Given the description of an element on the screen output the (x, y) to click on. 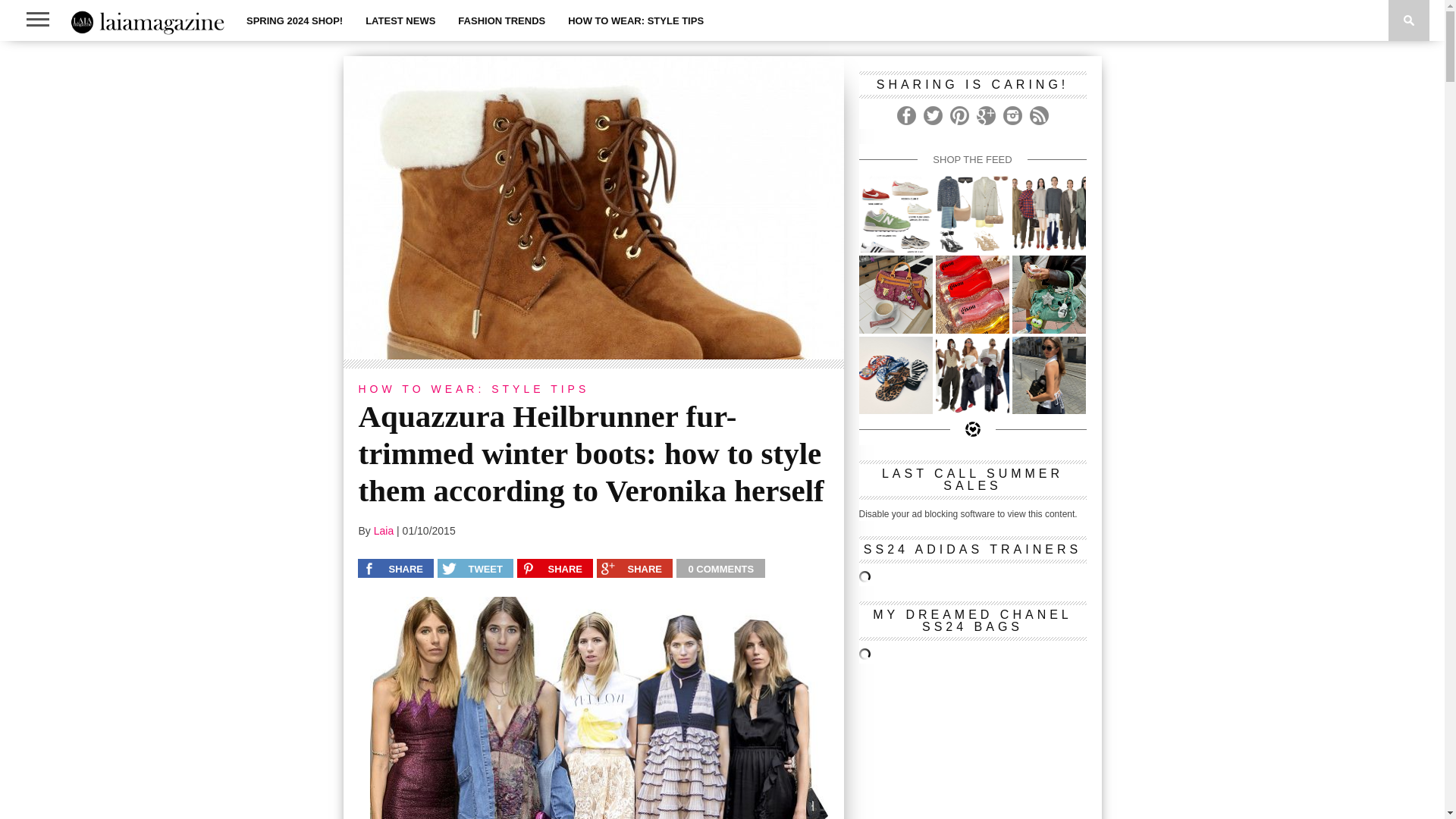
FASHION TRENDS (501, 20)
HOW TO WEAR: STYLE TIPS (635, 20)
LATEST NEWS (399, 20)
Laia (383, 530)
SPRING 2024 SHOP! (293, 20)
Entradas de Laia (383, 530)
